Given the description of an element on the screen output the (x, y) to click on. 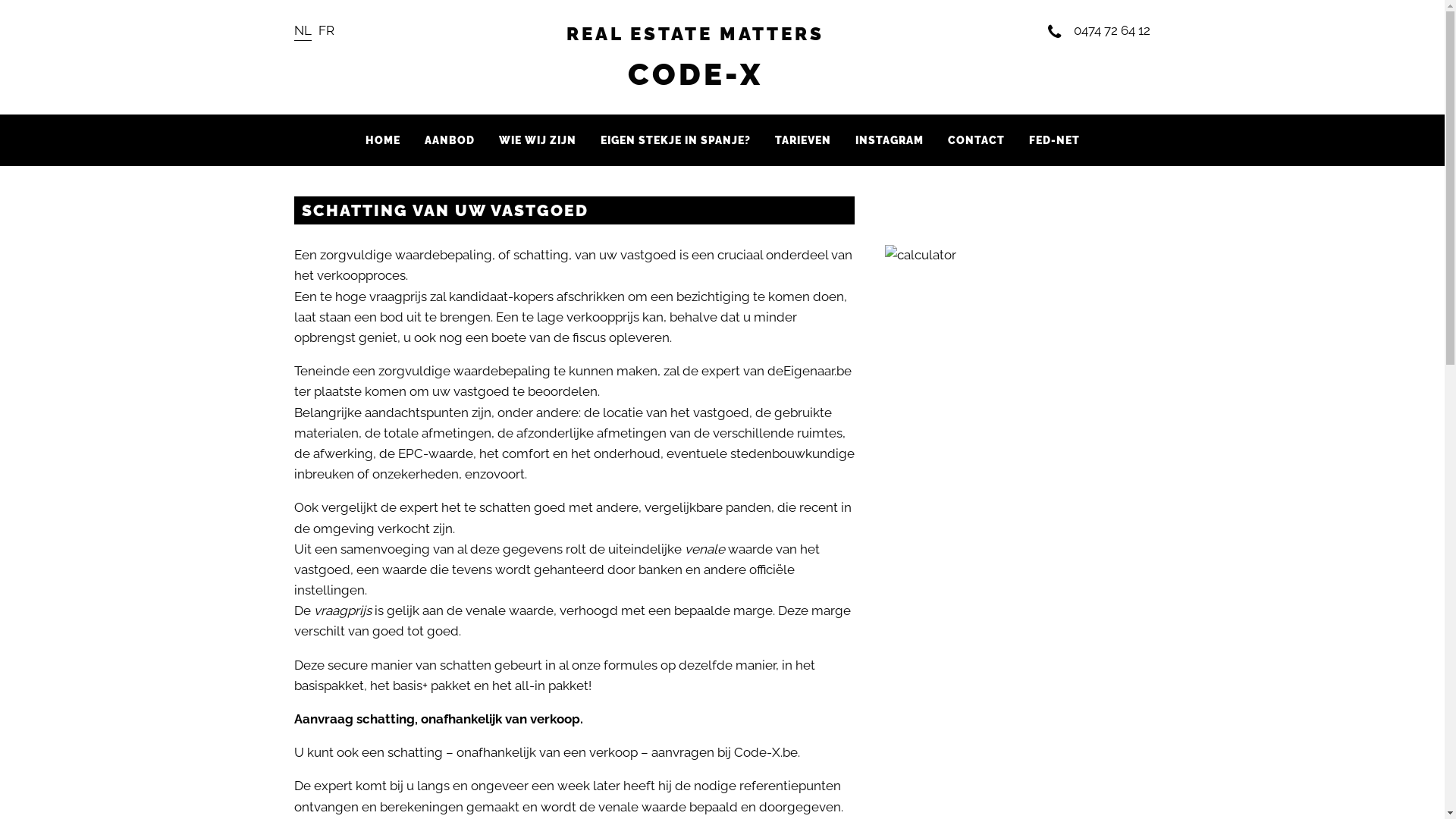
CONTACT Element type: text (975, 140)
FR Element type: text (326, 30)
FED-NET Element type: text (1053, 140)
TARIEVEN Element type: text (802, 140)
0474 72 64 12 Element type: text (1099, 29)
NL Element type: text (302, 30)
REAL ESTATE MATTERS
CODE-X Element type: text (695, 56)
WIE WIJ ZIJN Element type: text (537, 140)
AANBOD Element type: text (449, 140)
HOME Element type: text (382, 140)
INSTAGRAM Element type: text (889, 140)
EIGEN STEKJE IN SPANJE? Element type: text (675, 140)
